Given the description of an element on the screen output the (x, y) to click on. 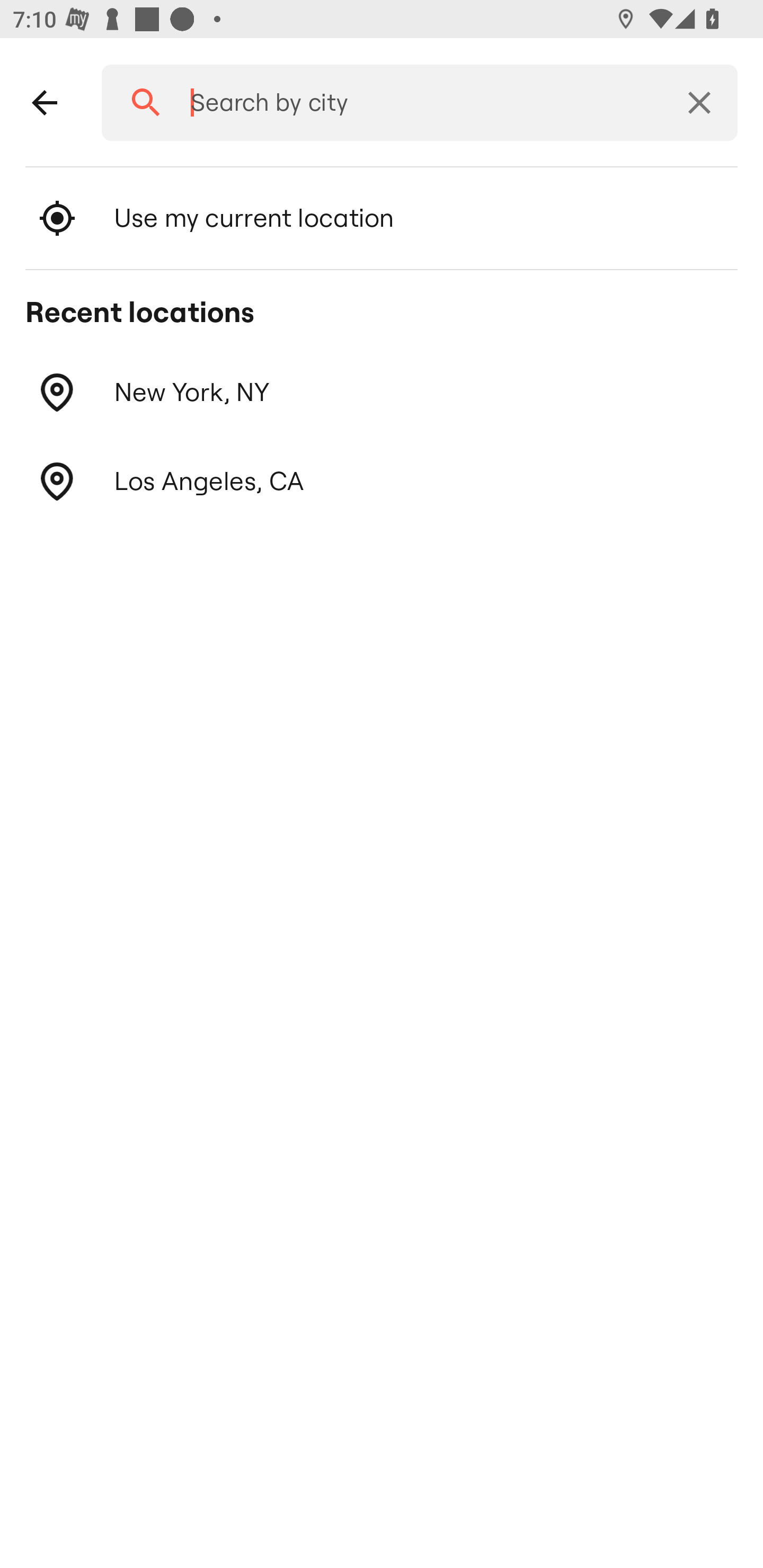
Back (44, 102)
Search by city (413, 102)
Clear (699, 102)
Use my current location (381, 218)
New York, NY (381, 392)
Los Angeles, CA (381, 481)
